Given the description of an element on the screen output the (x, y) to click on. 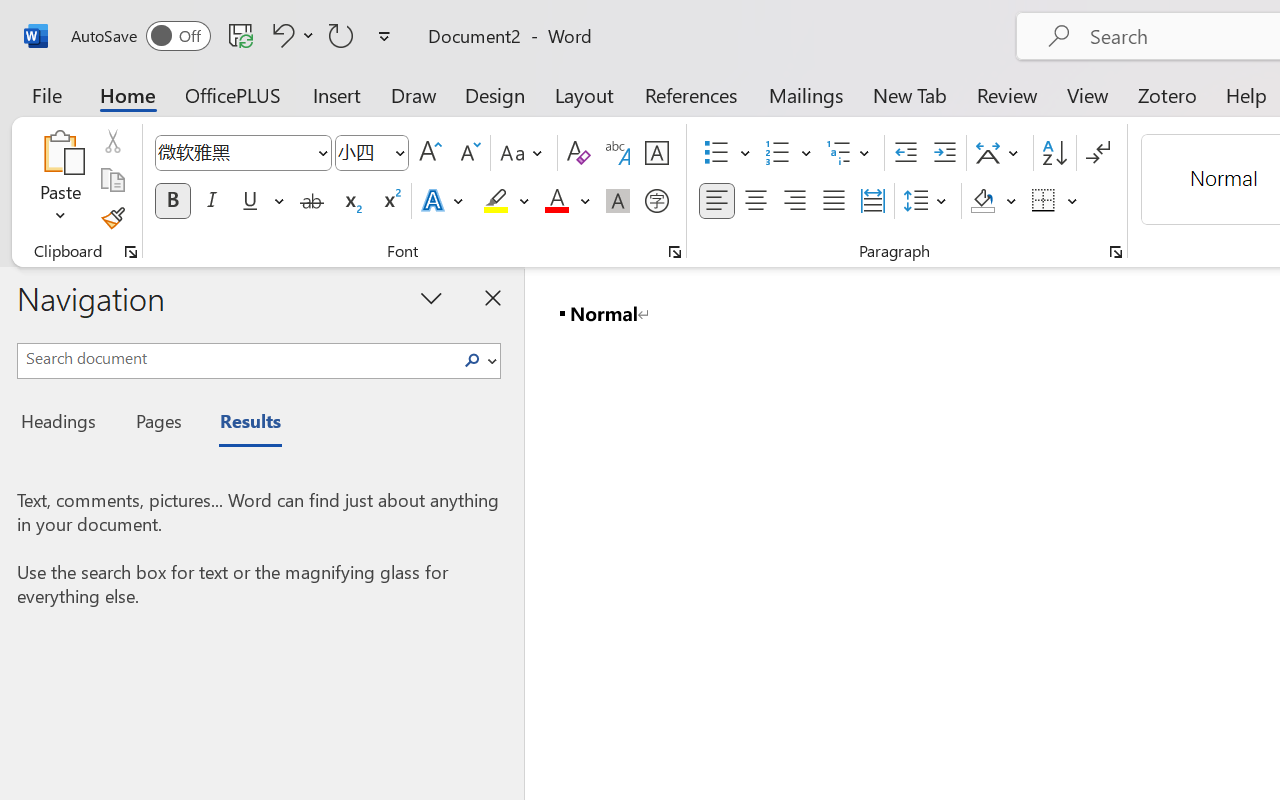
Save (241, 35)
Distributed (872, 201)
Search (478, 360)
Borders (1055, 201)
Justify (834, 201)
Align Left (716, 201)
Superscript (390, 201)
Results (240, 424)
Center (756, 201)
Font (234, 152)
Paste (60, 179)
Character Shading (618, 201)
AutoSave (140, 35)
Text Effects and Typography (444, 201)
